Given the description of an element on the screen output the (x, y) to click on. 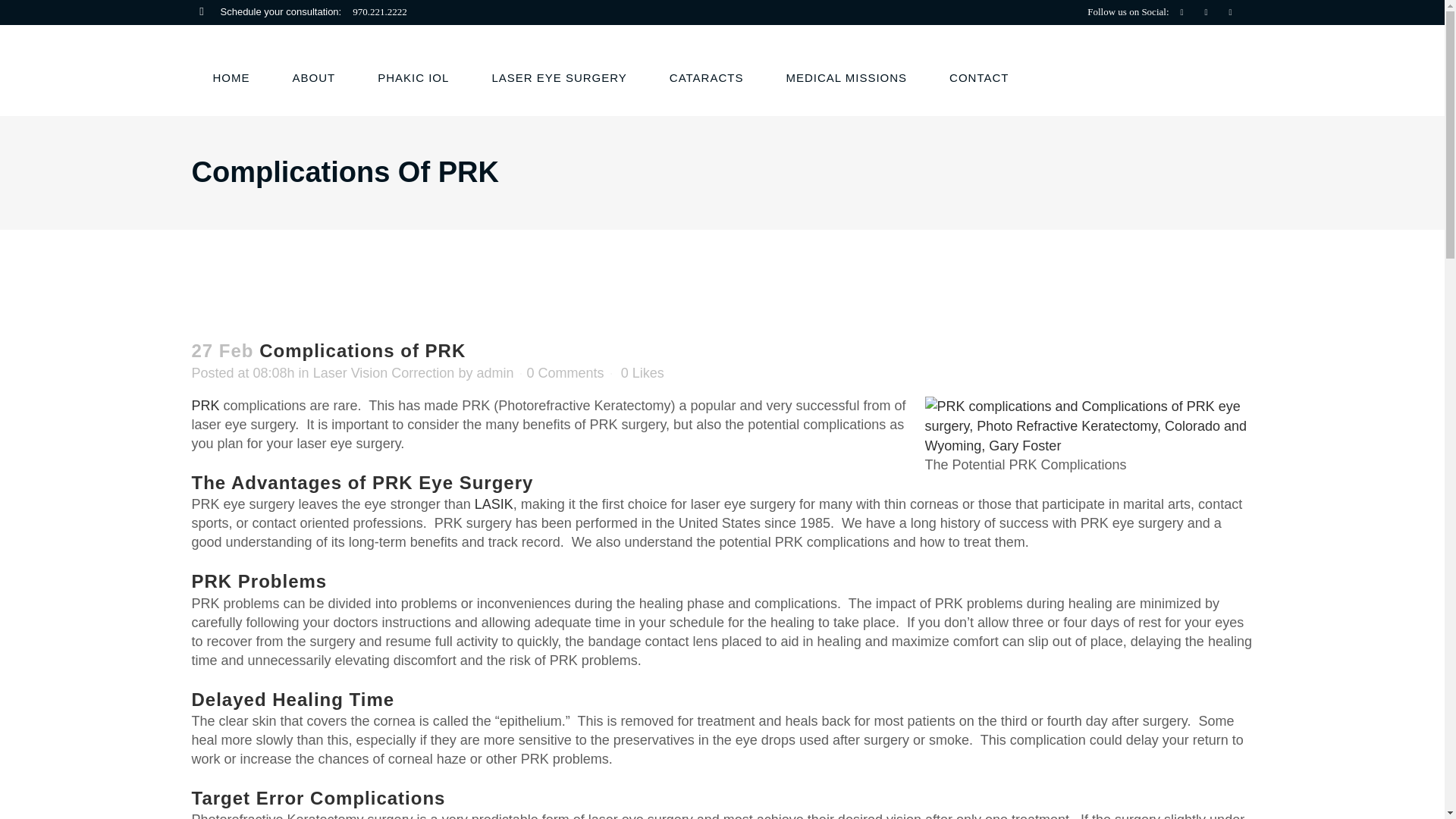
MEDICAL MISSIONS (846, 78)
CATARACTS (706, 78)
What is LASIK? (493, 503)
Like this (642, 372)
CONTACT (978, 78)
970.221.2222 (379, 11)
LASER EYE SURGERY (558, 78)
prk (1088, 425)
Complications of PRK (204, 405)
PHAKIC IOL (413, 78)
ABOUT (313, 78)
HOME (230, 78)
